Given the description of an element on the screen output the (x, y) to click on. 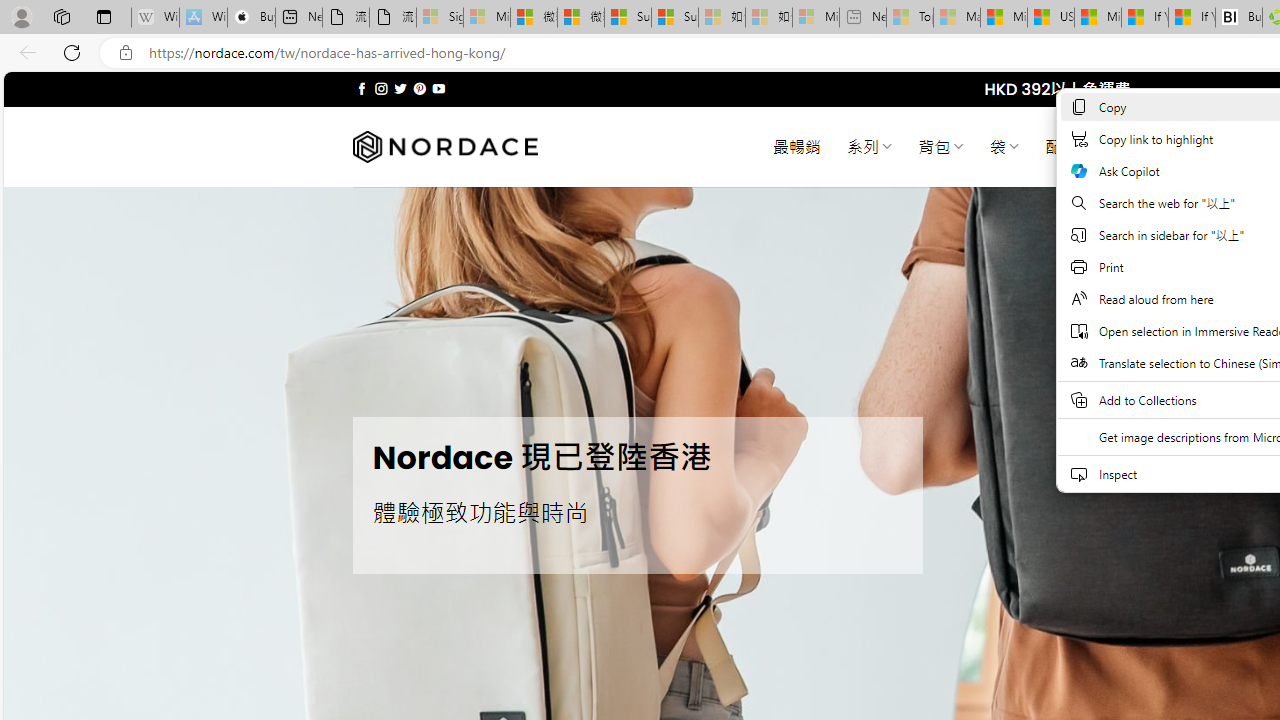
Buy iPad - Apple (251, 17)
Top Stories - MSN - Sleeping (910, 17)
Follow on Instagram (381, 88)
Marine life - MSN - Sleeping (957, 17)
US Heat Deaths Soared To Record High Last Year (1050, 17)
